Given the description of an element on the screen output the (x, y) to click on. 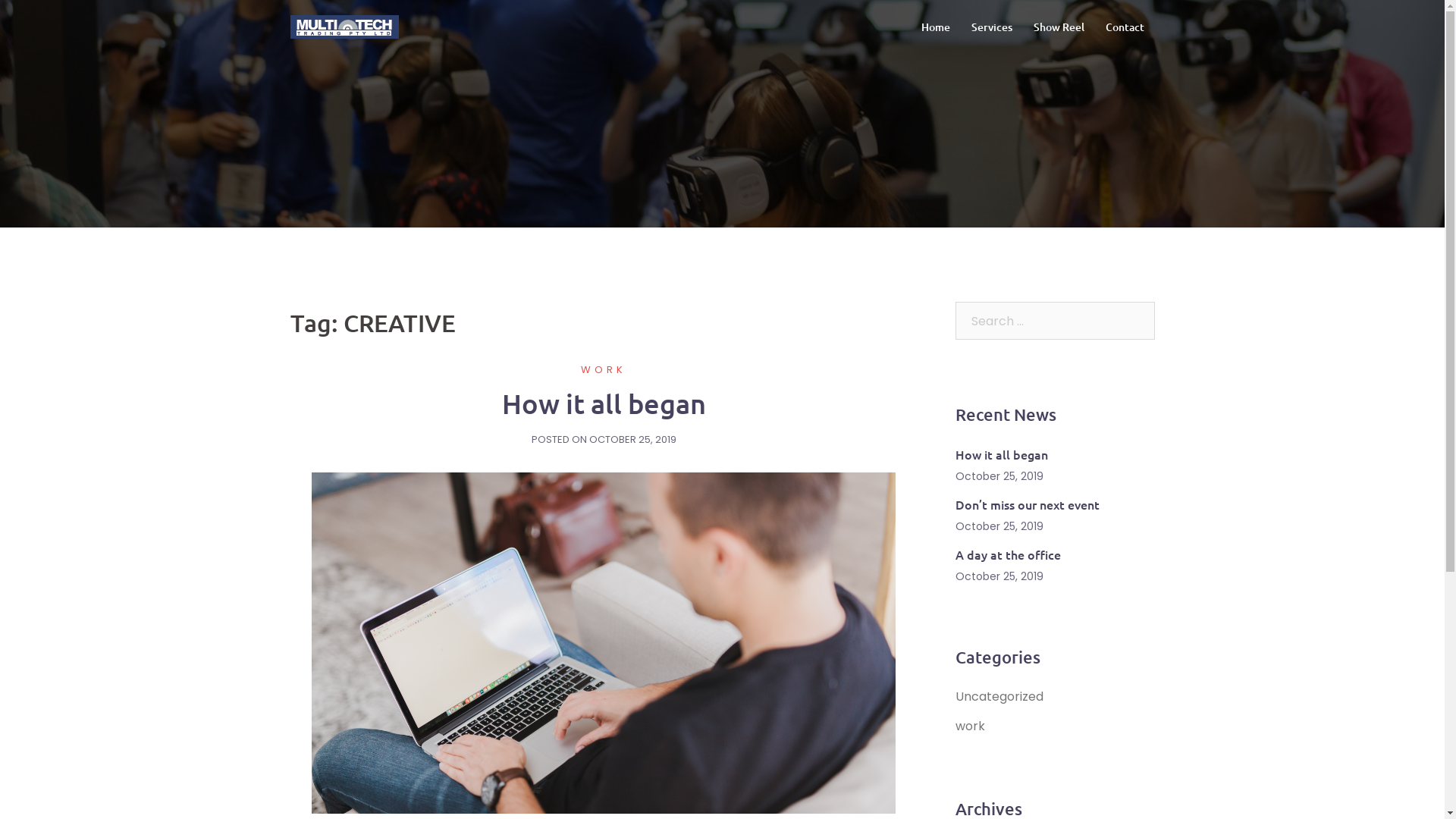
WORK Element type: text (603, 369)
Show Reel Element type: text (1057, 26)
How it all began Element type: text (604, 403)
work Element type: text (970, 725)
A day at the office Element type: text (1007, 554)
Uncategorized Element type: text (999, 696)
Search Element type: text (49, 18)
Services Element type: text (990, 26)
Skip to content Element type: text (0, 0)
Contact Element type: text (1124, 26)
OCTOBER 25, 2019 Element type: text (632, 439)
How it all began Element type: text (1001, 453)
Home Element type: text (934, 26)
How it all began Element type: hover (603, 642)
